Given the description of an element on the screen output the (x, y) to click on. 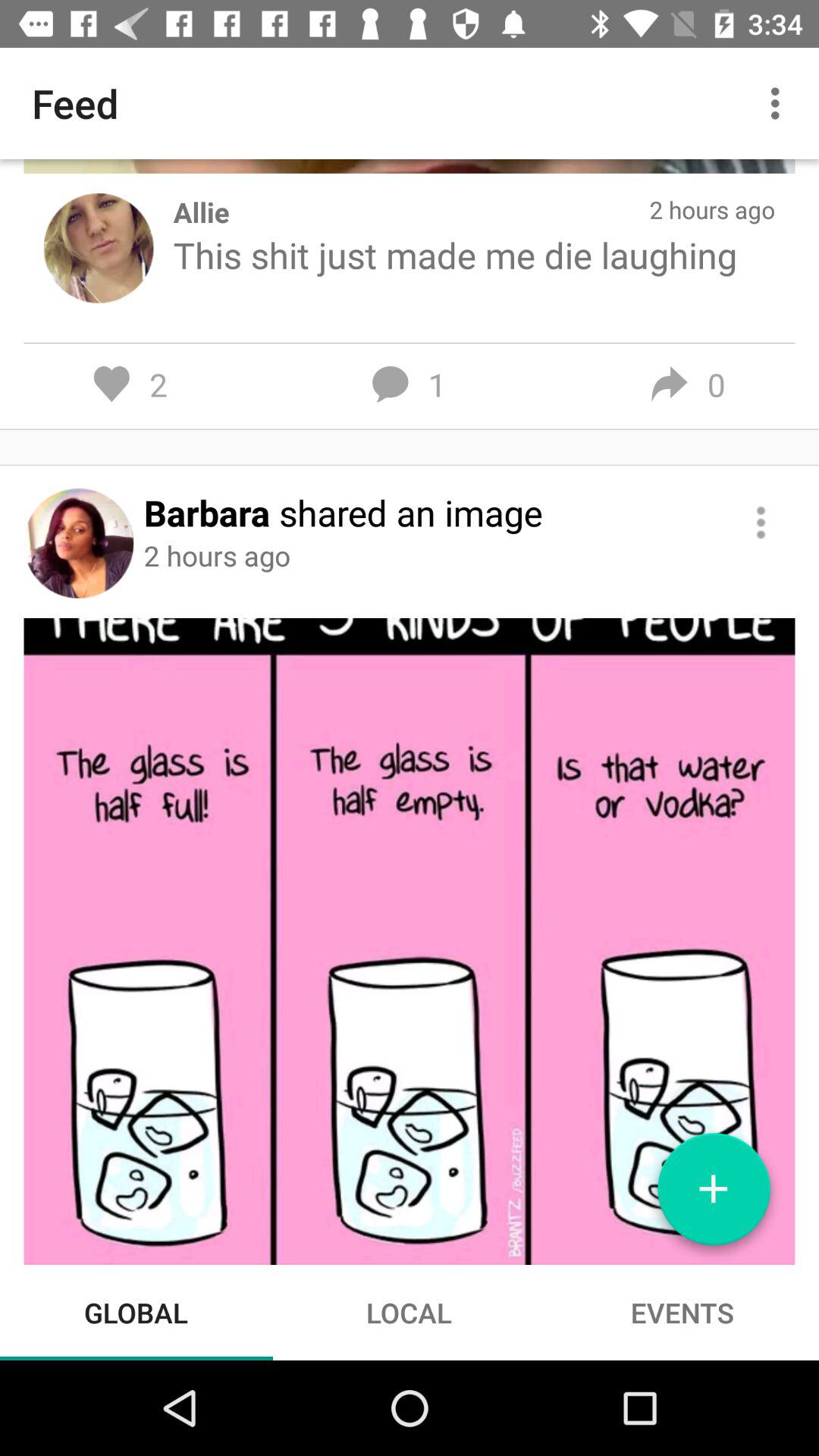
launch icon to the right of feed item (779, 103)
